Given the description of an element on the screen output the (x, y) to click on. 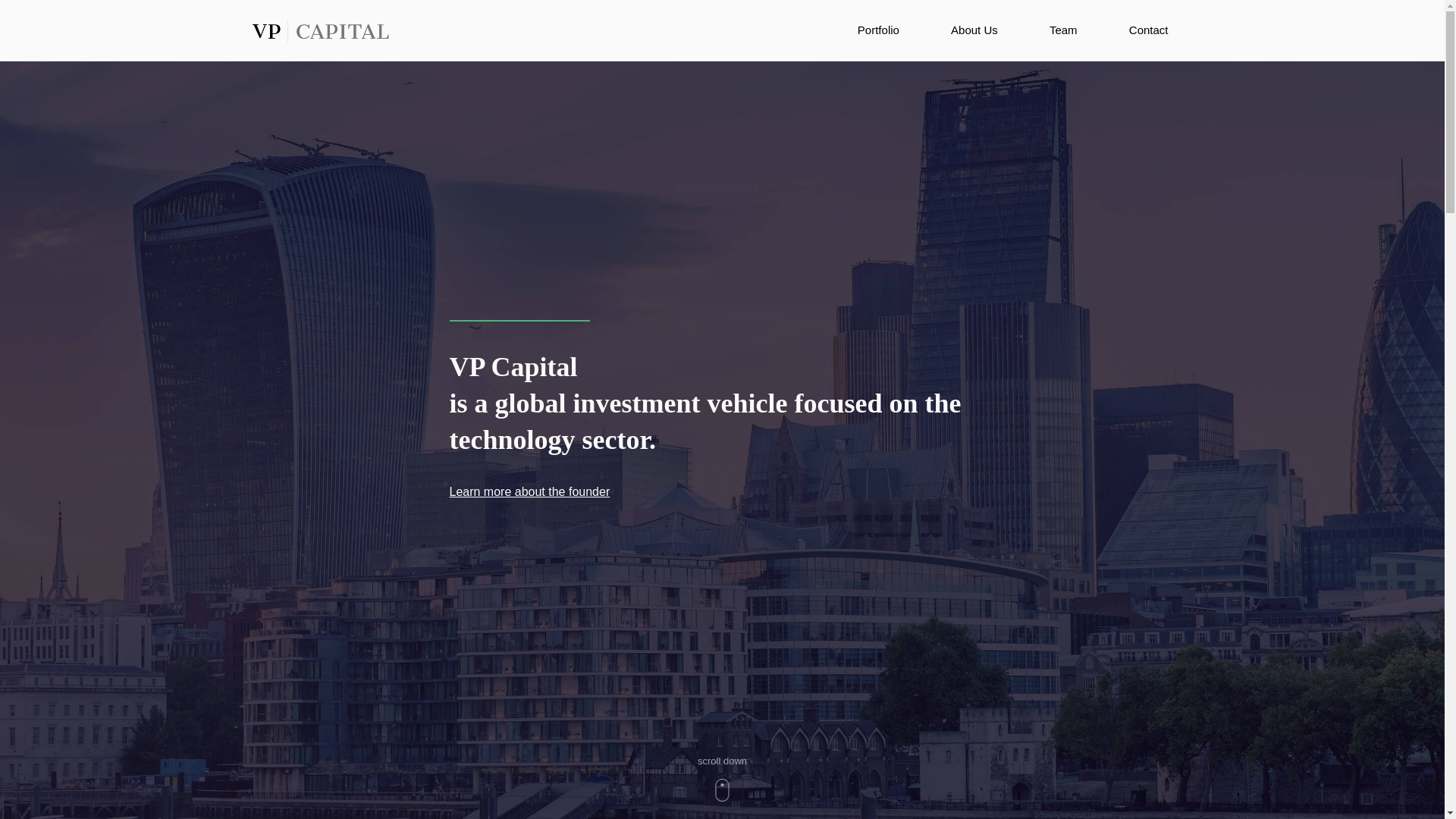
Contact (1148, 30)
Portfolio (878, 30)
Learn more about the founder (529, 491)
About Us (973, 30)
Portfolio (878, 30)
Team (1063, 30)
Team (1063, 30)
About Us (973, 30)
Contact (1148, 30)
scroll down (721, 778)
